Given the description of an element on the screen output the (x, y) to click on. 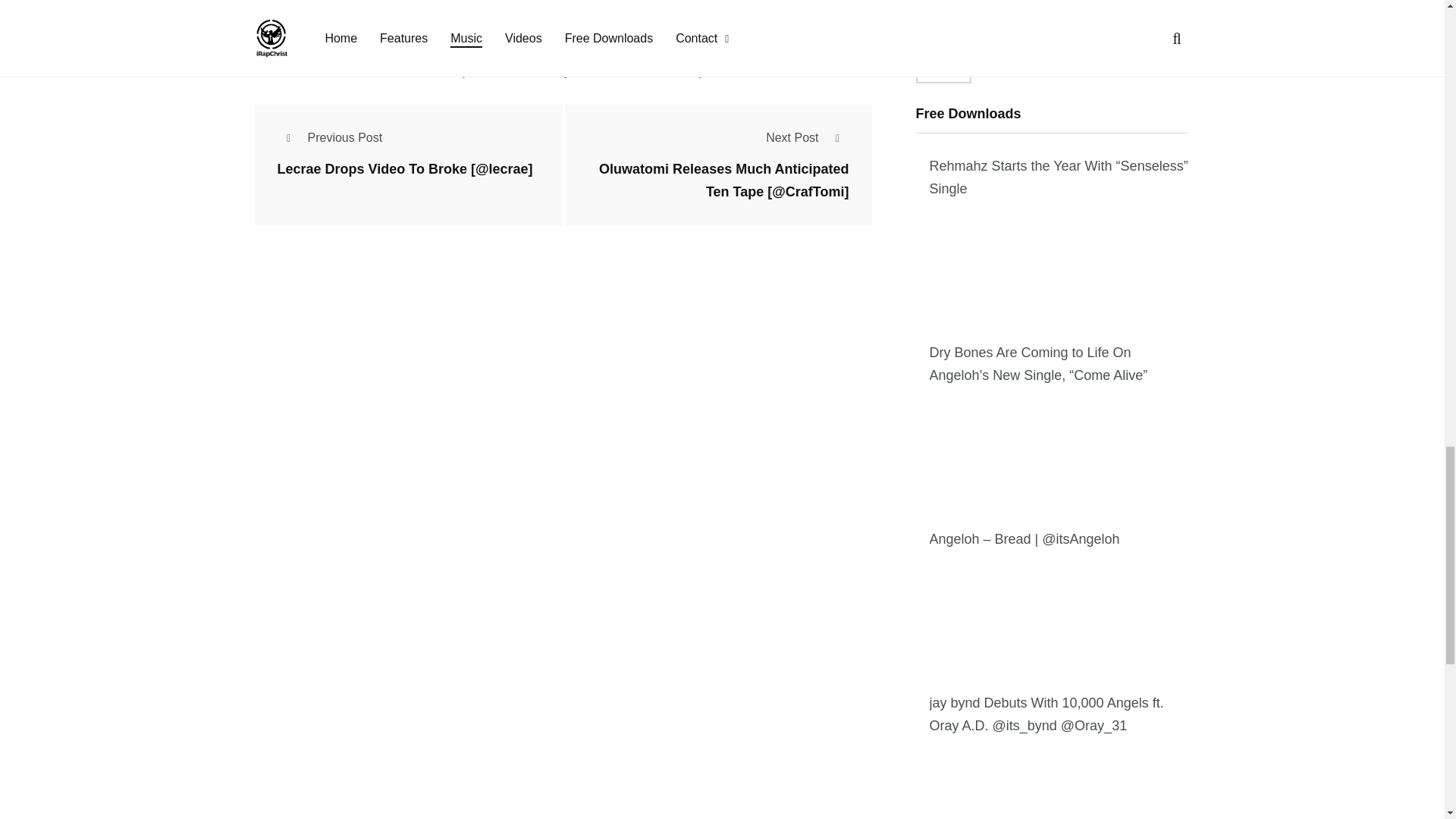
Post Comment (315, 18)
Post Comment (315, 18)
Learn how your comment data is processed (628, 70)
Previous Post (330, 137)
